Given the description of an element on the screen output the (x, y) to click on. 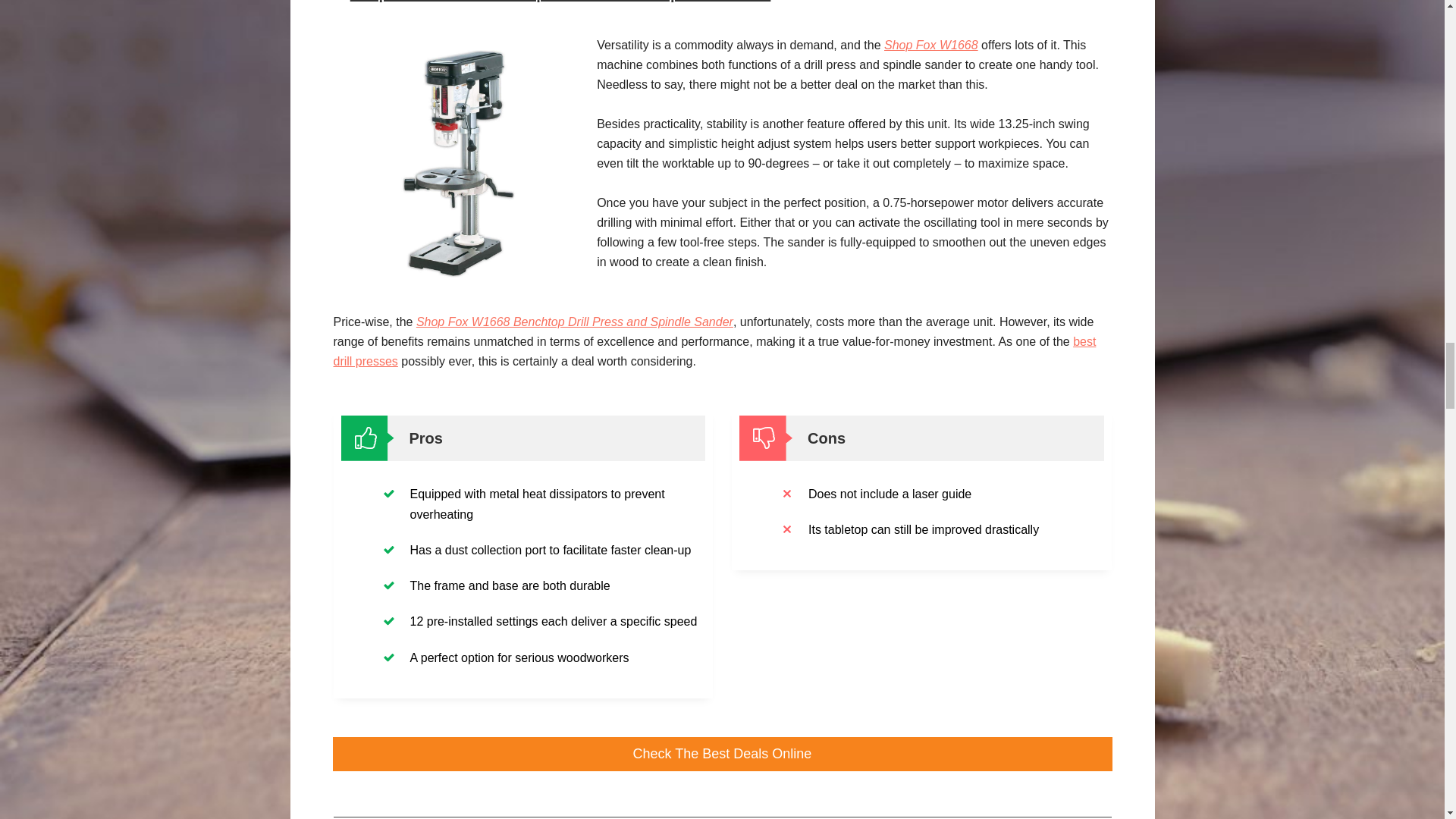
Shop Fox W1668 3:4 HP Bench-Top Oscillating Drill Press (458, 163)
